Given the description of an element on the screen output the (x, y) to click on. 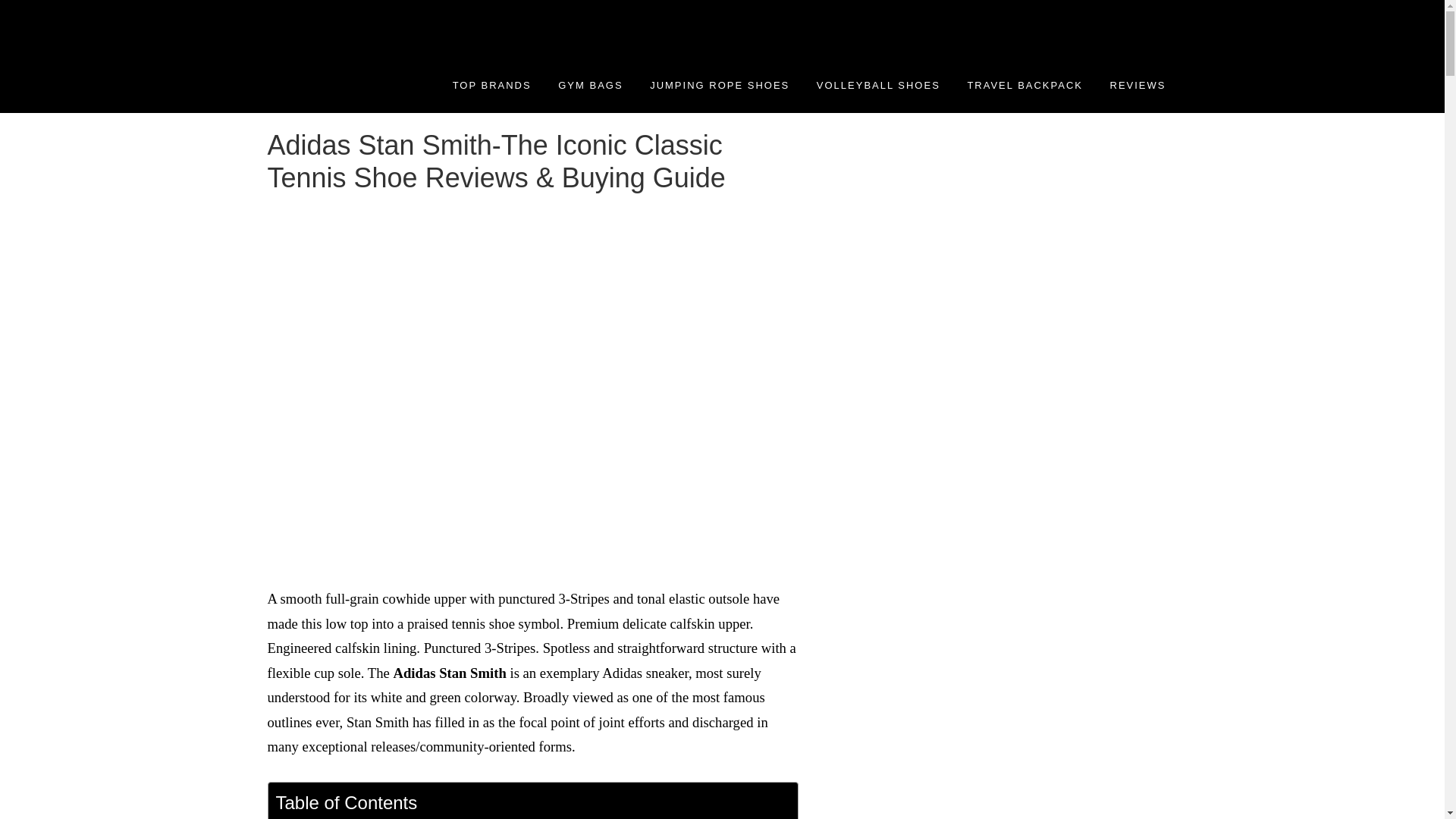
TRAVEL BACKPACK (1024, 85)
GYM BAGS (590, 85)
JUMPING ROPE SHOES (719, 85)
TOP BRANDS (492, 85)
VOLLEYBALL SHOES (878, 85)
REVIEWS (1138, 85)
